Given the description of an element on the screen output the (x, y) to click on. 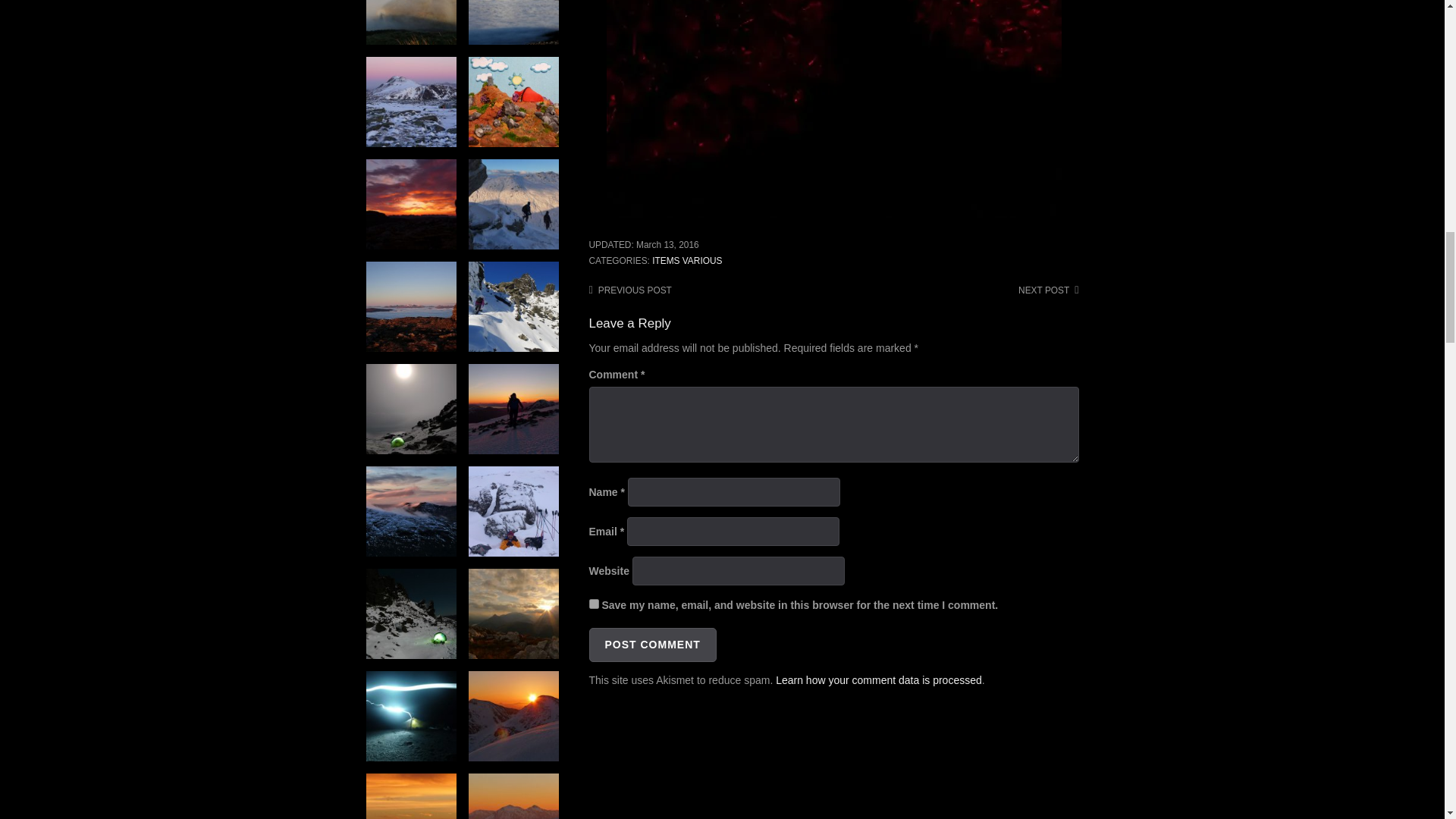
Post Comment (652, 644)
Post Comment (652, 644)
NEXT POST (1047, 290)
March 13, 2016 (667, 244)
PREVIOUS POST (629, 290)
yes (593, 603)
ITEMS VARIOUS (687, 260)
Learn how your comment data is processed (878, 680)
